Given the description of an element on the screen output the (x, y) to click on. 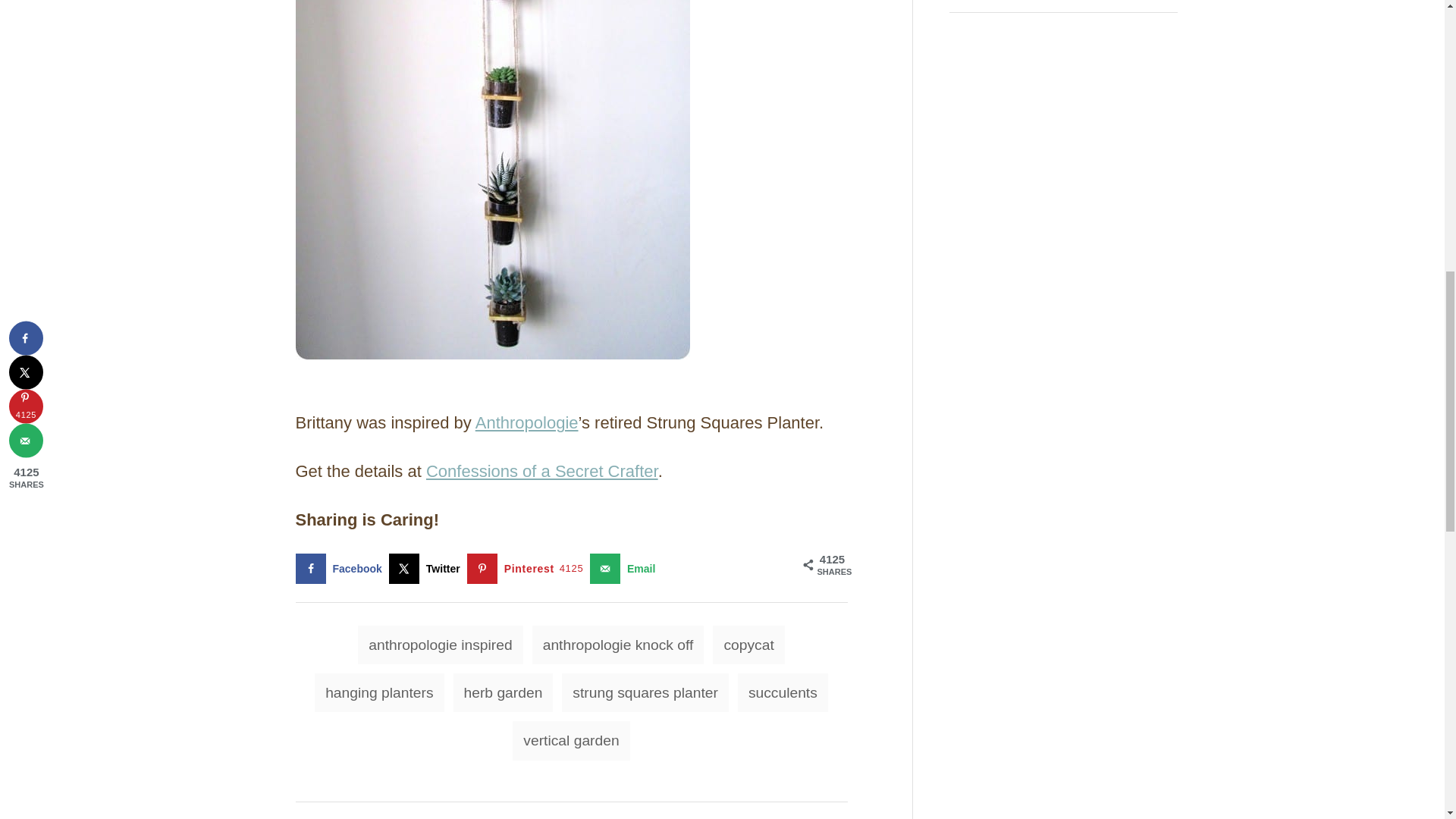
Share on X (427, 568)
Save to Pinterest (528, 568)
Send over email (625, 568)
Share on Facebook (341, 568)
